Given the description of an element on the screen output the (x, y) to click on. 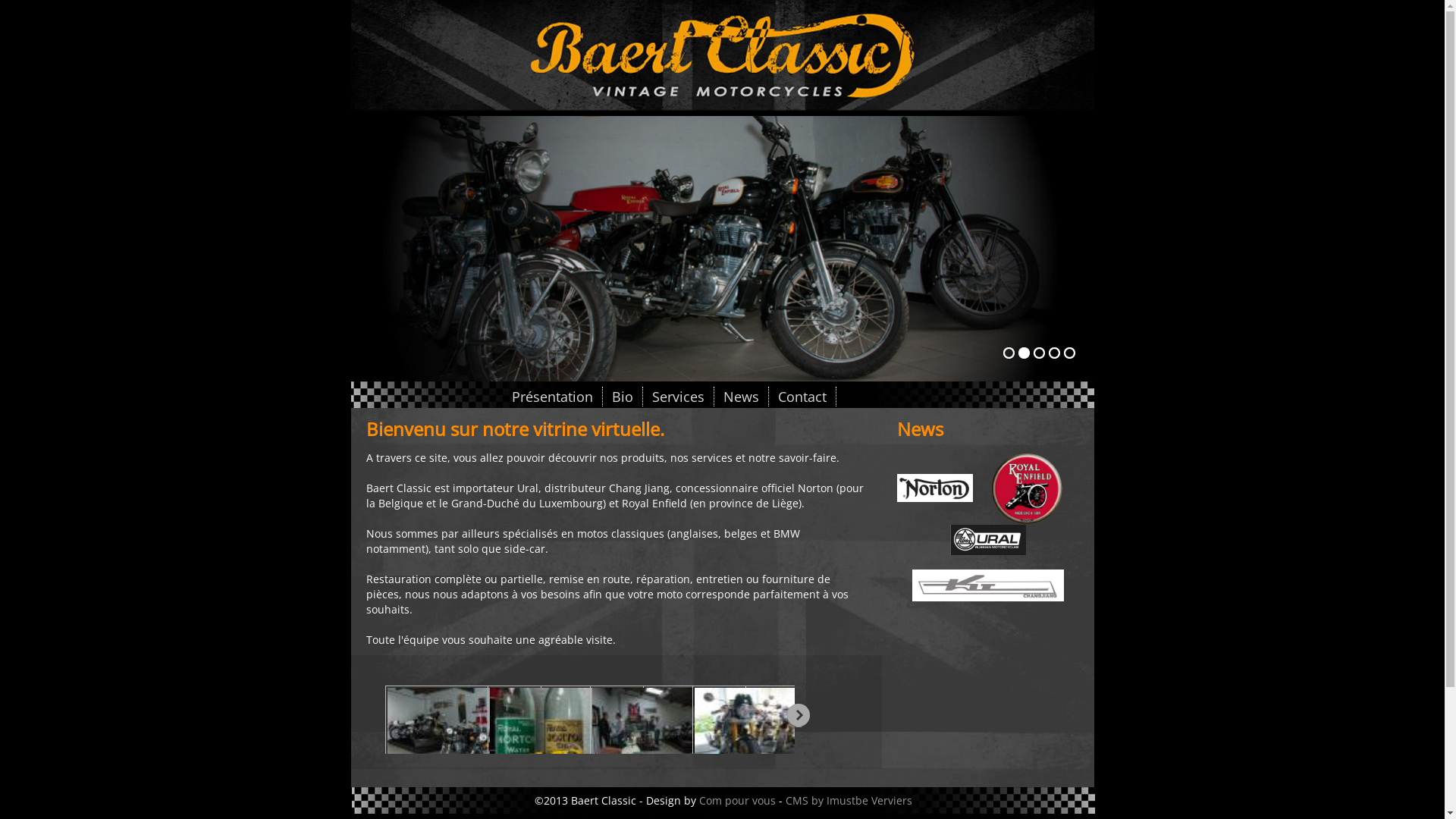
Com pour vous Element type: text (737, 800)
News Element type: text (741, 396)
Verviers Element type: text (891, 800)
Bio Element type: text (622, 396)
Contact Element type: text (802, 396)
Services Element type: text (678, 396)
CMS by Imustbe Element type: text (826, 800)
